Given the description of an element on the screen output the (x, y) to click on. 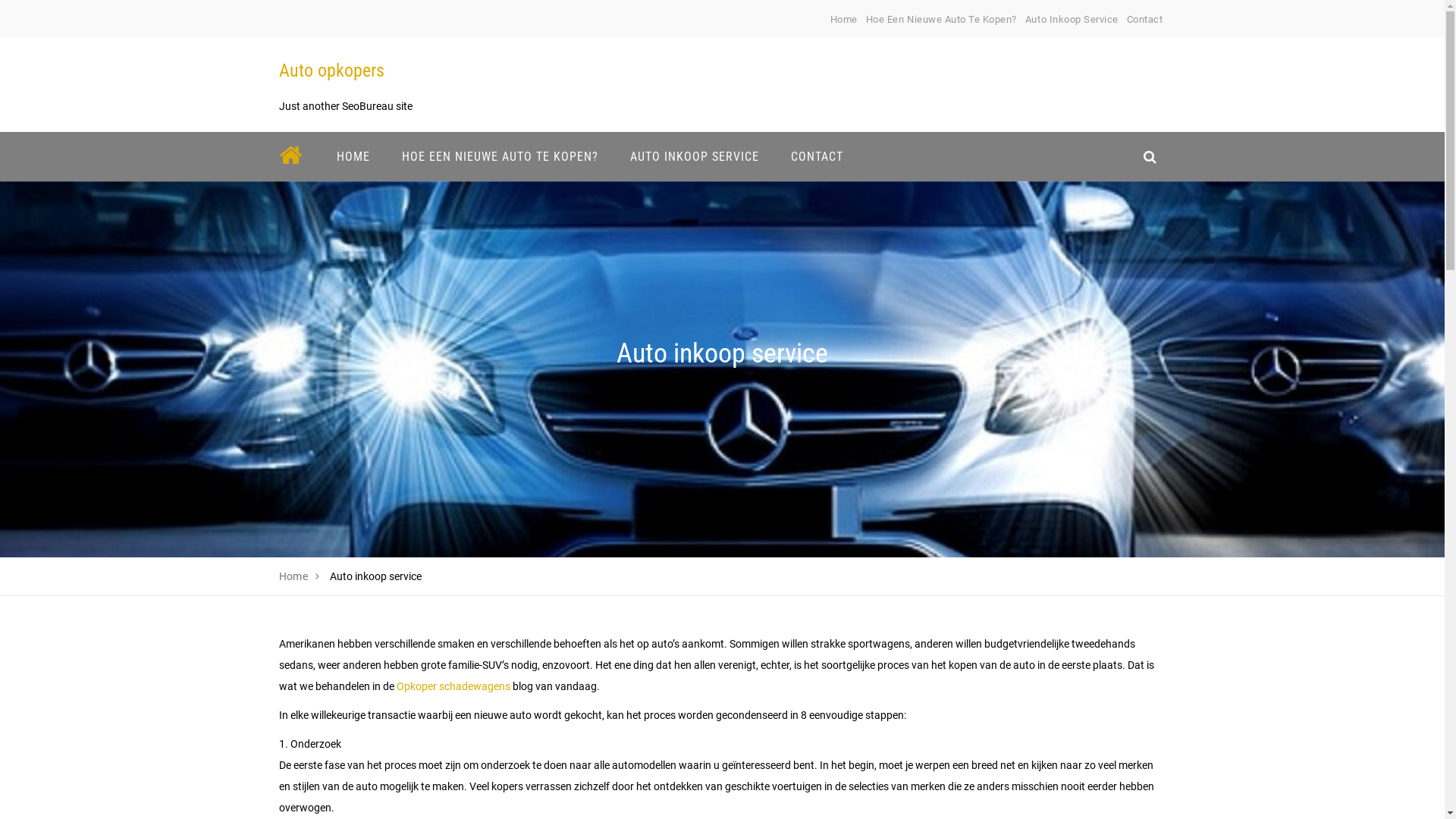
search_icon Element type: hover (1148, 156)
Home Element type: text (843, 19)
Auto opkopers Element type: text (331, 70)
HOE EEN NIEUWE AUTO TE KOPEN? Element type: text (499, 156)
Hoe Een Nieuwe Auto Te Kopen? Element type: text (941, 19)
Auto Inkoop Service Element type: text (1071, 19)
AUTO INKOOP SERVICE Element type: text (694, 156)
CONTACT Element type: text (817, 156)
Contact Element type: text (1144, 19)
Home Element type: text (293, 576)
Opkoper schadewagens Element type: text (452, 686)
HOME Element type: text (352, 156)
